Given the description of an element on the screen output the (x, y) to click on. 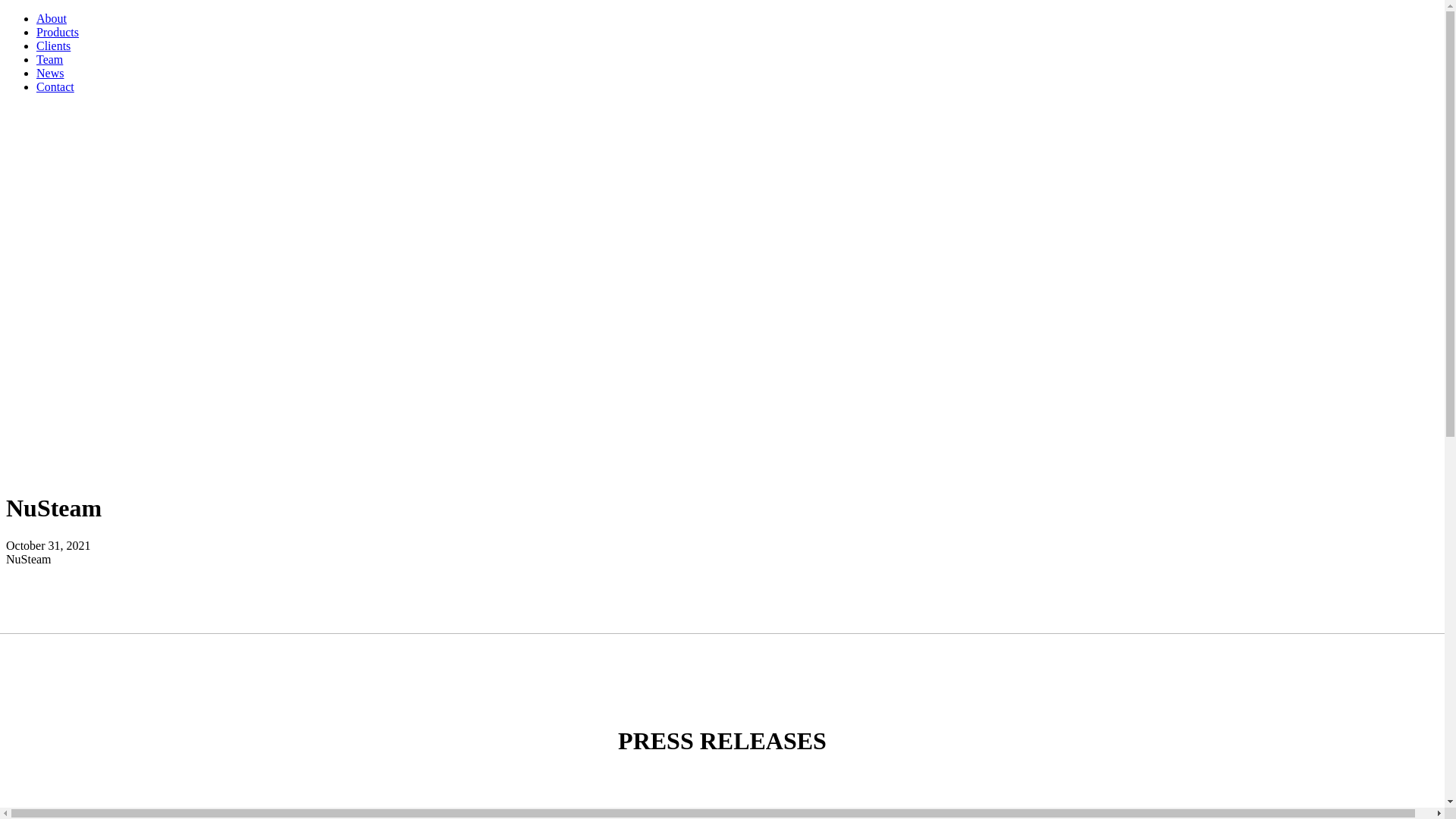
Products Element type: text (737, 32)
Contact Element type: text (737, 87)
Team Element type: text (737, 59)
About Element type: text (737, 18)
News Element type: text (737, 73)
Clients Element type: text (737, 46)
Bespoke Marketing Element type: text (65, 500)
